Given the description of an element on the screen output the (x, y) to click on. 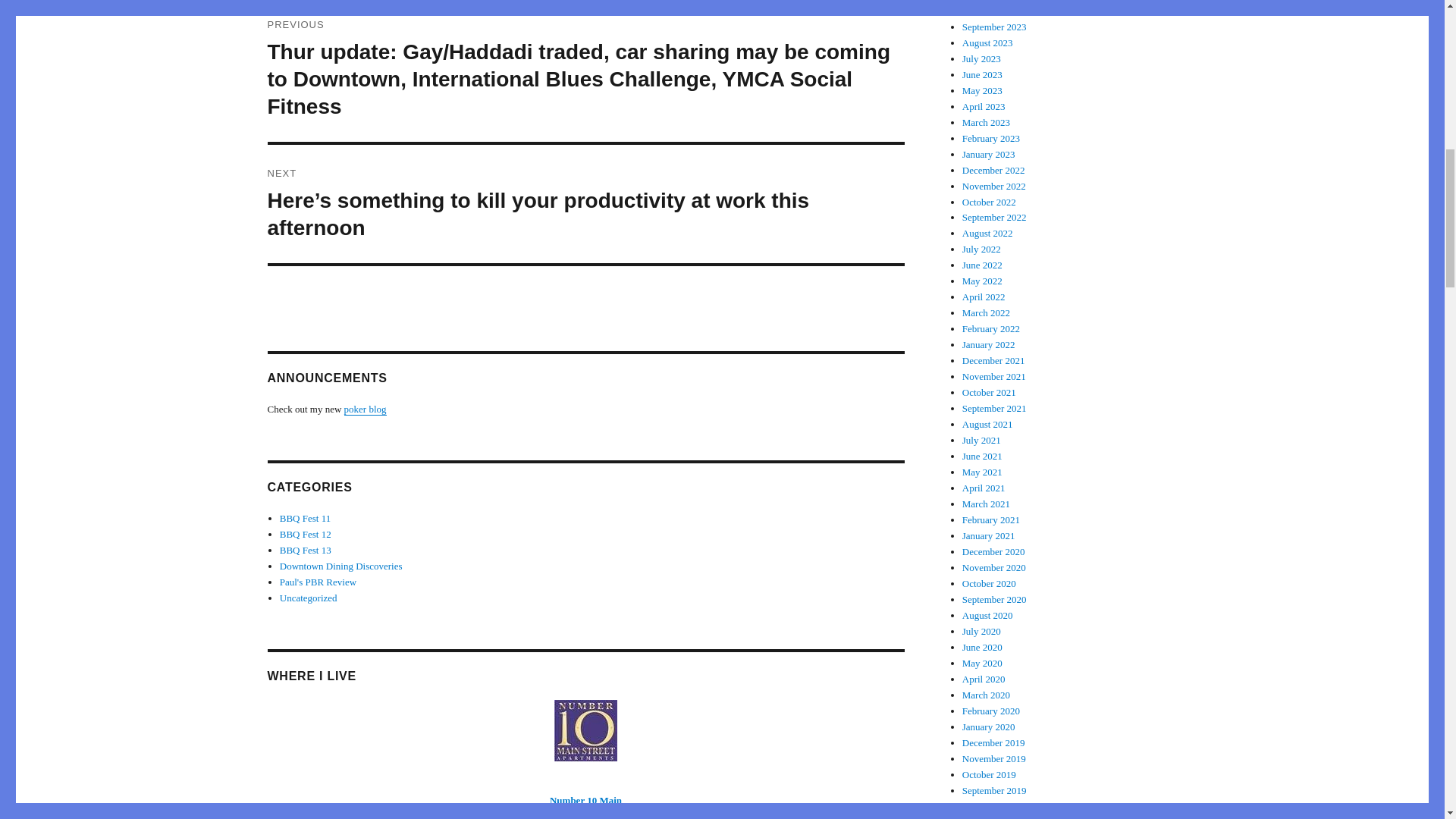
BBQ Fest 13 (305, 550)
Number 10 Main (585, 799)
poker blog (365, 408)
Paul's PBR Review (317, 582)
BBQ Fest 11 (304, 518)
Uncategorized (308, 597)
BBQ Fest 12 (305, 533)
Downtown Dining Discoveries (341, 565)
